Given the description of an element on the screen output the (x, y) to click on. 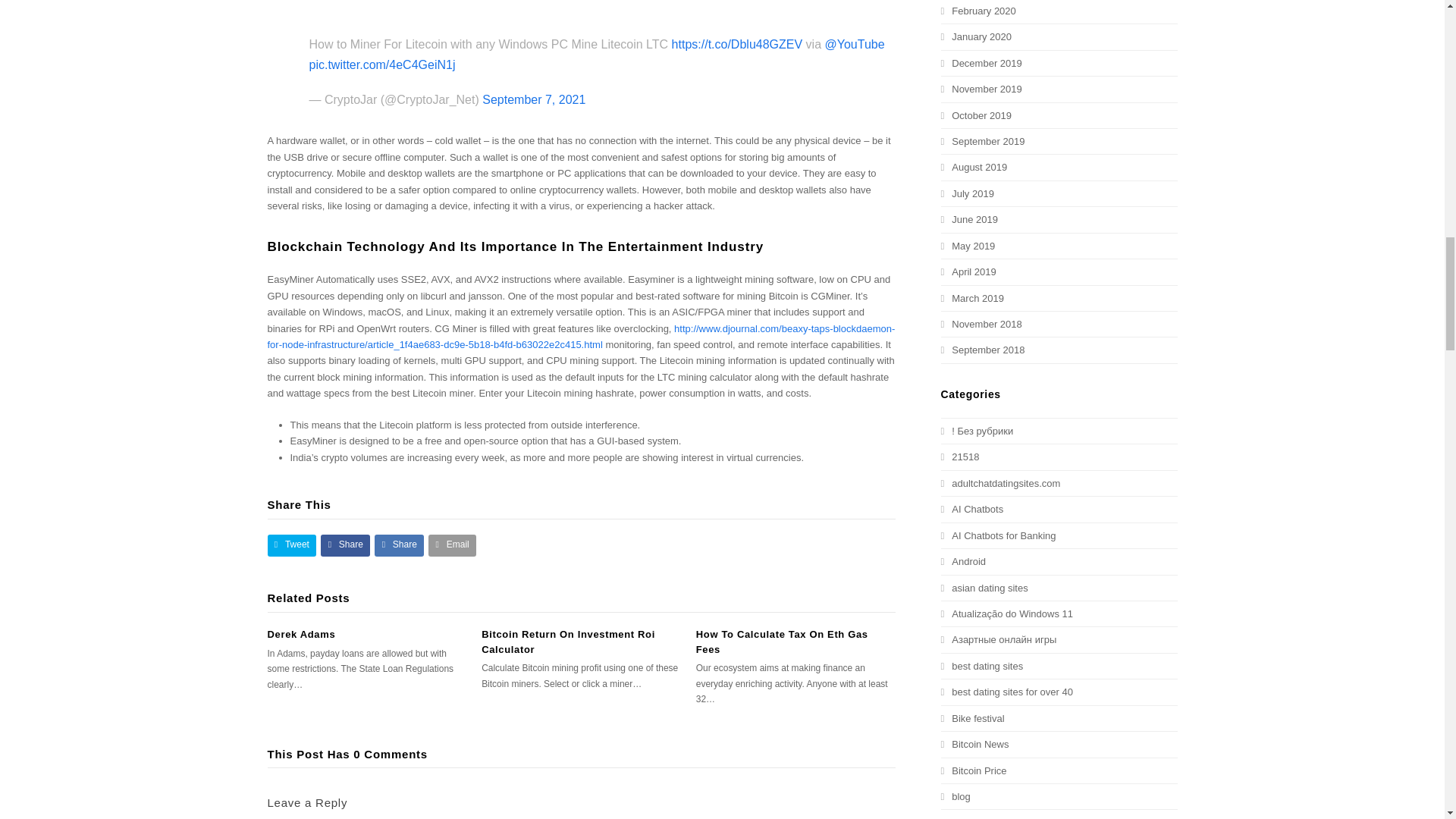
Share (398, 545)
Email (452, 545)
Share (344, 545)
Derek Adams (300, 633)
How To Calculate Tax On Eth Gas Fees (781, 641)
September 7, 2021 (533, 99)
Tweet (290, 545)
Bitcoin Return On Investment Roi Calculator (568, 641)
